Given the description of an element on the screen output the (x, y) to click on. 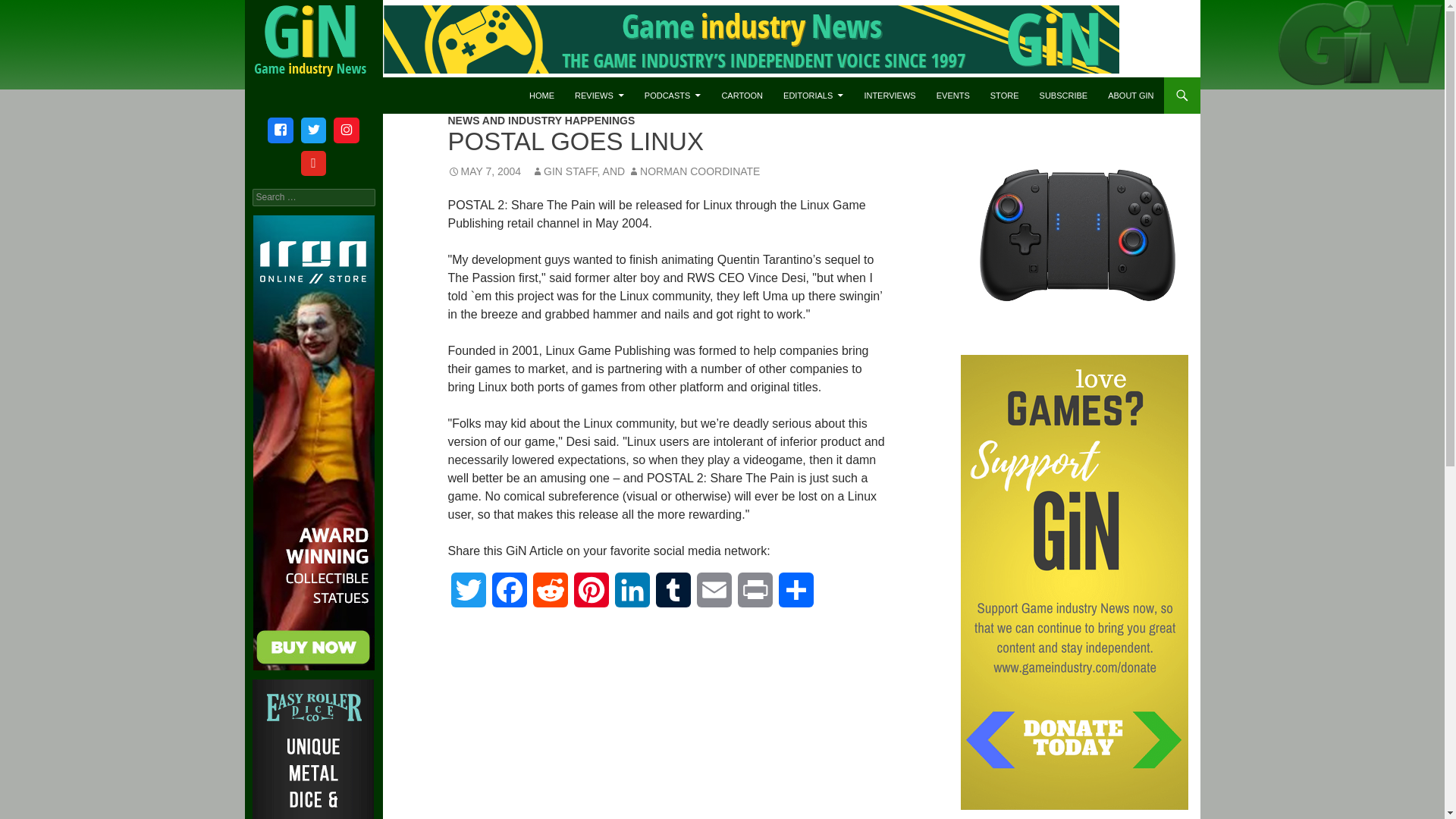
PODCASTS (672, 94)
Game Industry News (333, 94)
Instagram (346, 130)
SUBSCRIBE (1063, 94)
Posts by GiN Staff (563, 171)
INTERVIEWS (889, 94)
MAY 7, 2004 (483, 171)
Posts by Norman Coordinate (693, 171)
REVIEWS (599, 94)
